Given the description of an element on the screen output the (x, y) to click on. 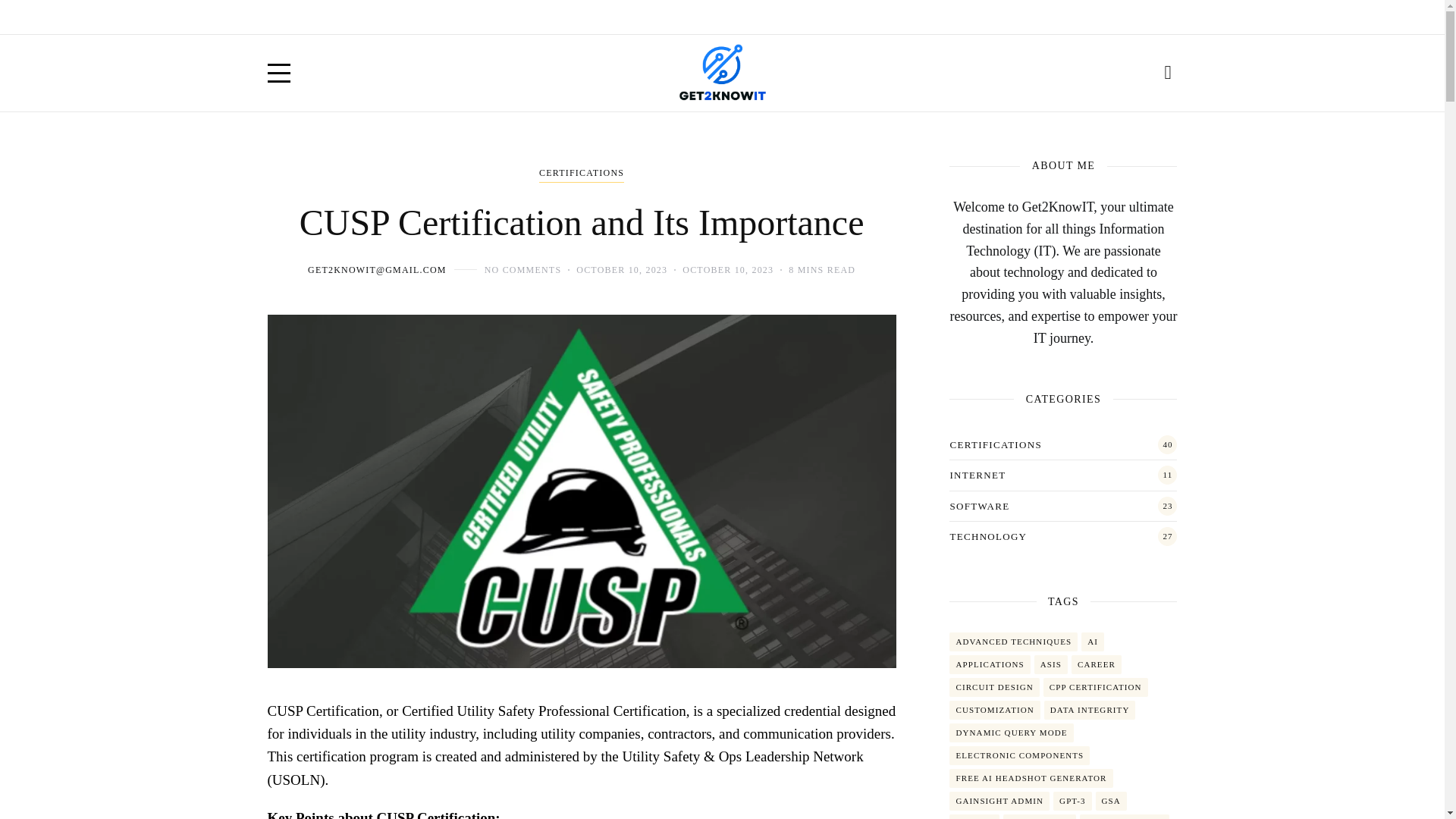
Categories (581, 174)
CONTACT US (416, 17)
Pinterest (1169, 16)
YouTube (1135, 16)
HOME (282, 17)
Twitter (1102, 16)
ABOUT US (340, 17)
Logo (722, 73)
CERTIFICATIONS (581, 174)
Facebook (1069, 16)
